Given the description of an element on the screen output the (x, y) to click on. 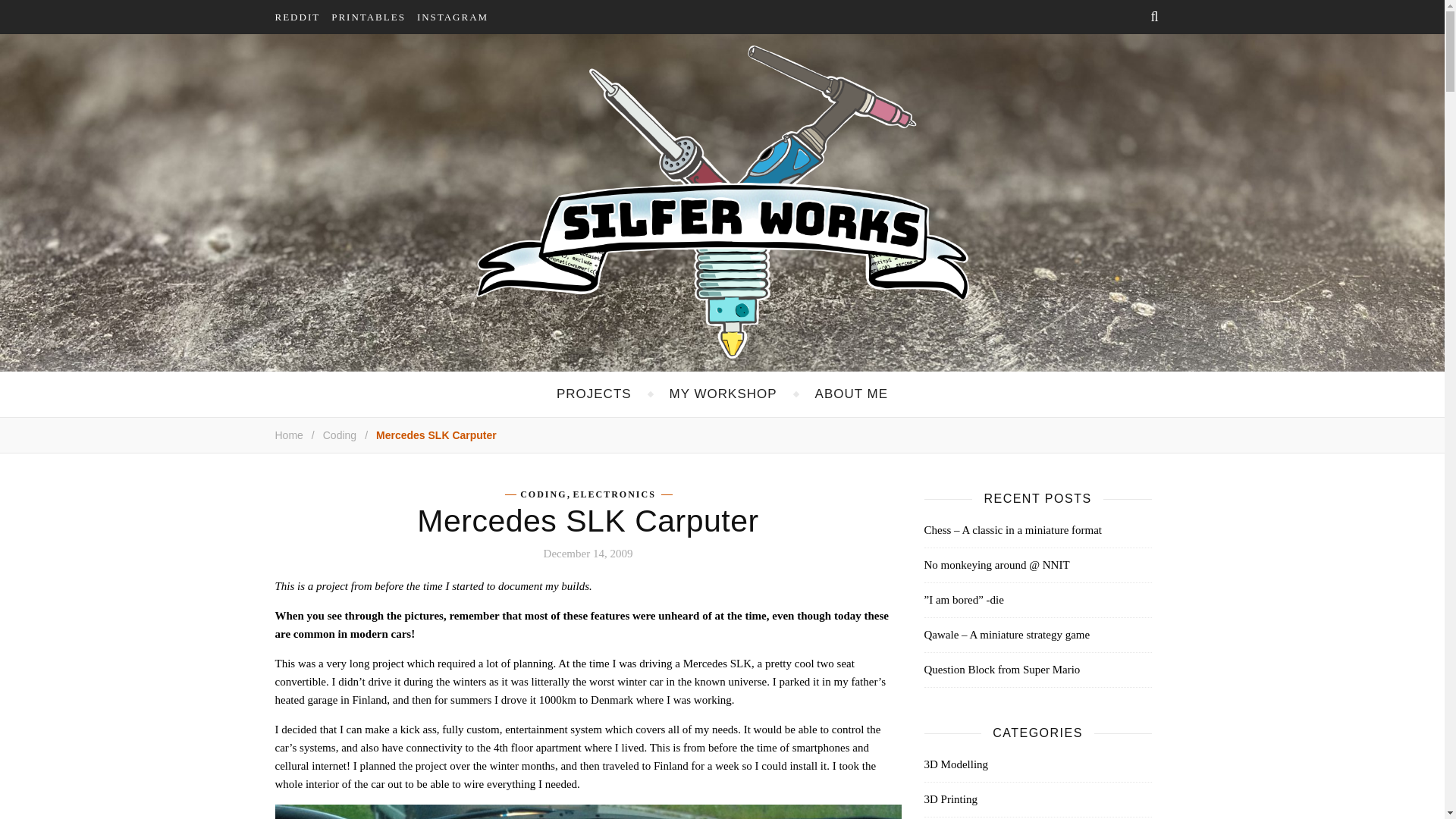
CODING (542, 493)
Coding (339, 435)
PROJECTS (593, 393)
ELECTRONICS (613, 493)
Question Block from Super Mario (1001, 669)
Mercedes SLK Carputer (435, 435)
ABOUT ME (851, 393)
REDDIT (303, 17)
INSTAGRAM (457, 17)
MY WORKSHOP (723, 393)
PRINTABLES (373, 17)
Coding (339, 435)
3D Modelling (955, 764)
Home (288, 435)
